Given the description of an element on the screen output the (x, y) to click on. 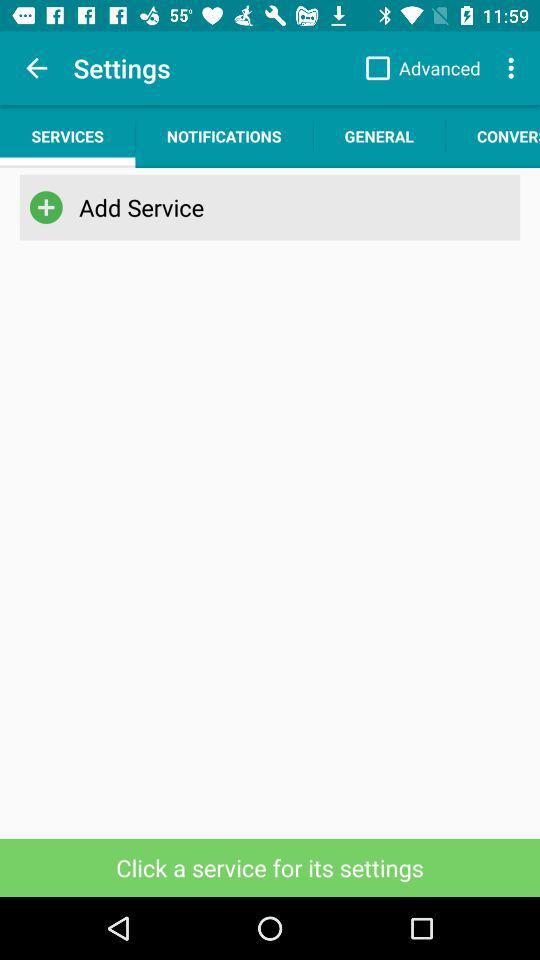
choose icon below the services (266, 207)
